Given the description of an element on the screen output the (x, y) to click on. 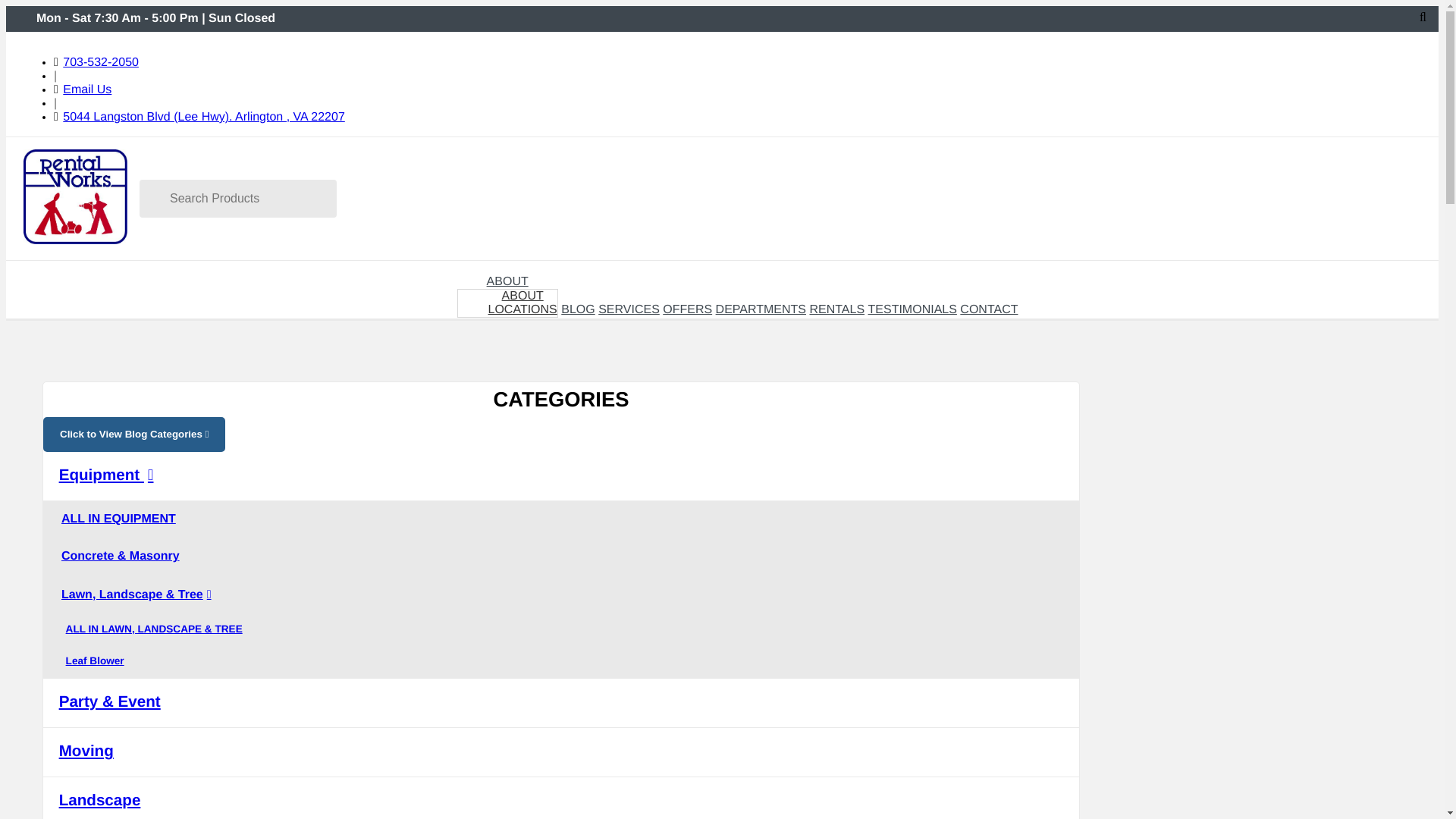
ABOUT (100, 62)
ALL IN EQUIPMENT (507, 281)
Skip Navigation (561, 519)
OFFERS (29, 272)
Equipment (686, 309)
Landscape (560, 476)
Toggle navigation (560, 798)
LOCATIONS (18, 271)
Moving (522, 309)
ABOUT (560, 752)
TESTIMONIALS (522, 295)
CONTACT (911, 309)
DEPARTMENTS (988, 309)
Leaf Blower (761, 309)
